Given the description of an element on the screen output the (x, y) to click on. 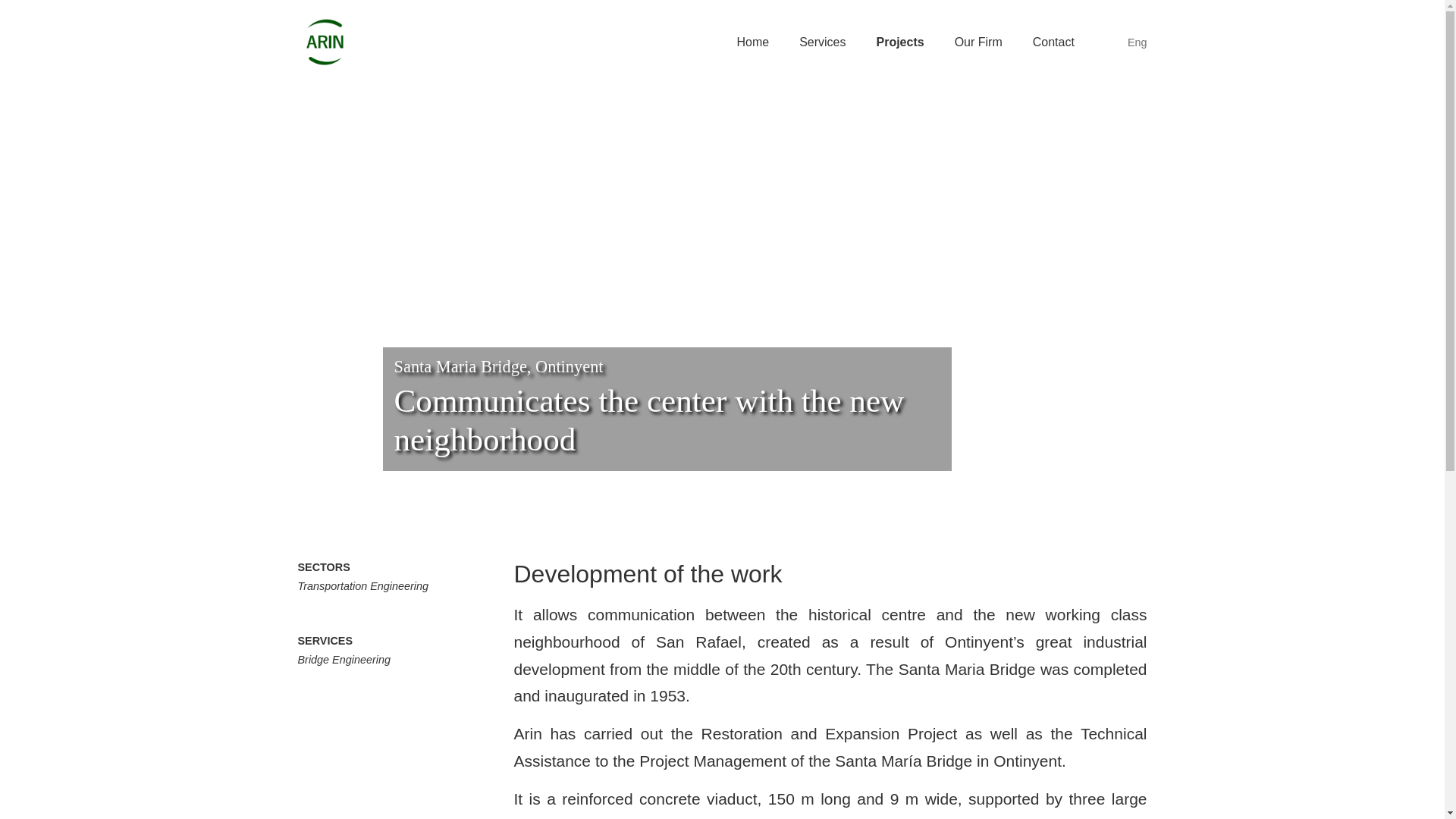
Our Firm (978, 42)
Projects (899, 42)
Home (752, 42)
Eng (1129, 42)
Contact (1053, 42)
Services (822, 42)
Bridge Engineering (343, 659)
